Given the description of an element on the screen output the (x, y) to click on. 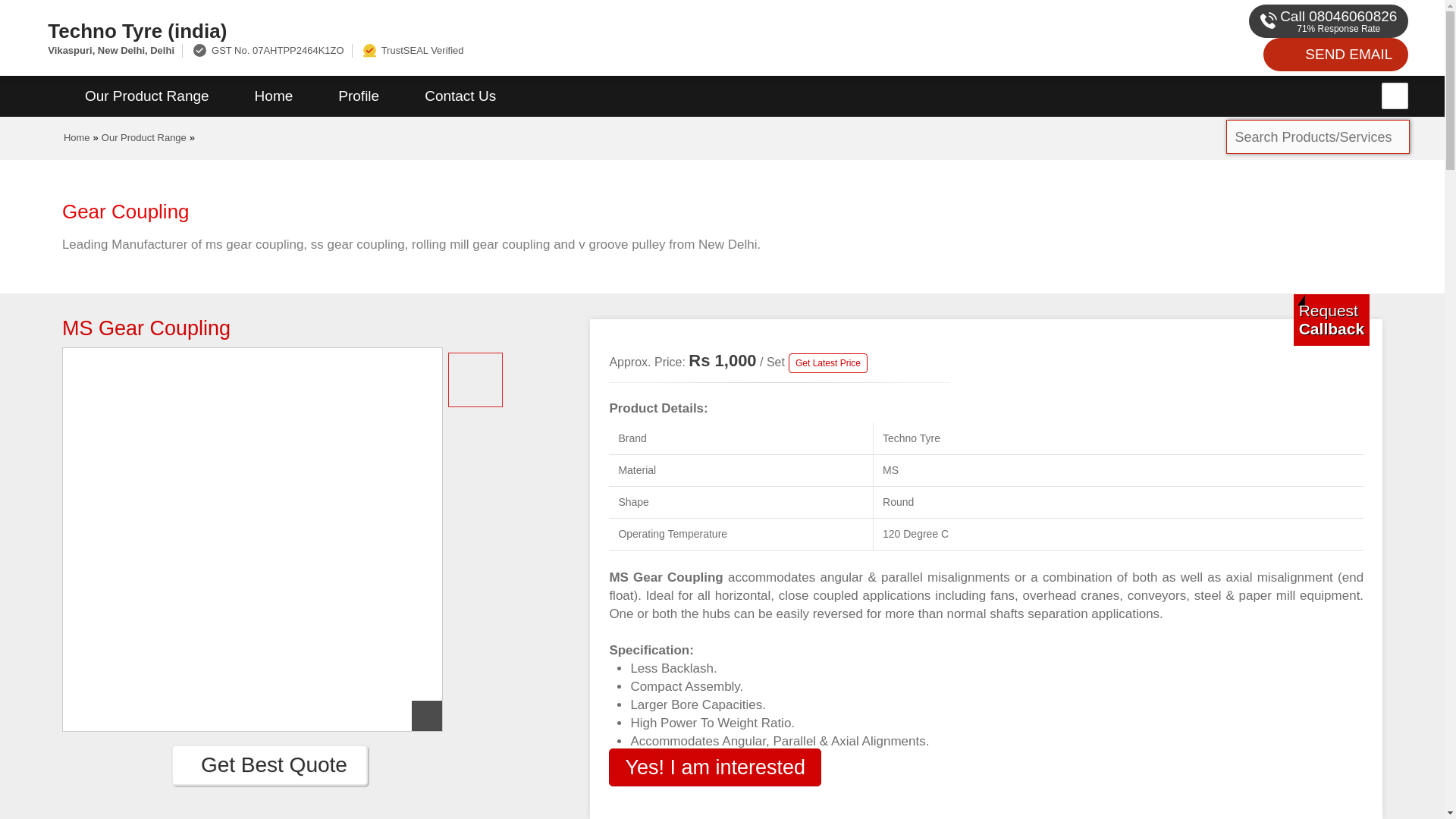
Contact Us (459, 96)
Profile (358, 96)
Our Product Range (143, 137)
Get a Call from us (1332, 319)
Our Product Range (146, 96)
Home (77, 137)
Home (273, 96)
